Given the description of an element on the screen output the (x, y) to click on. 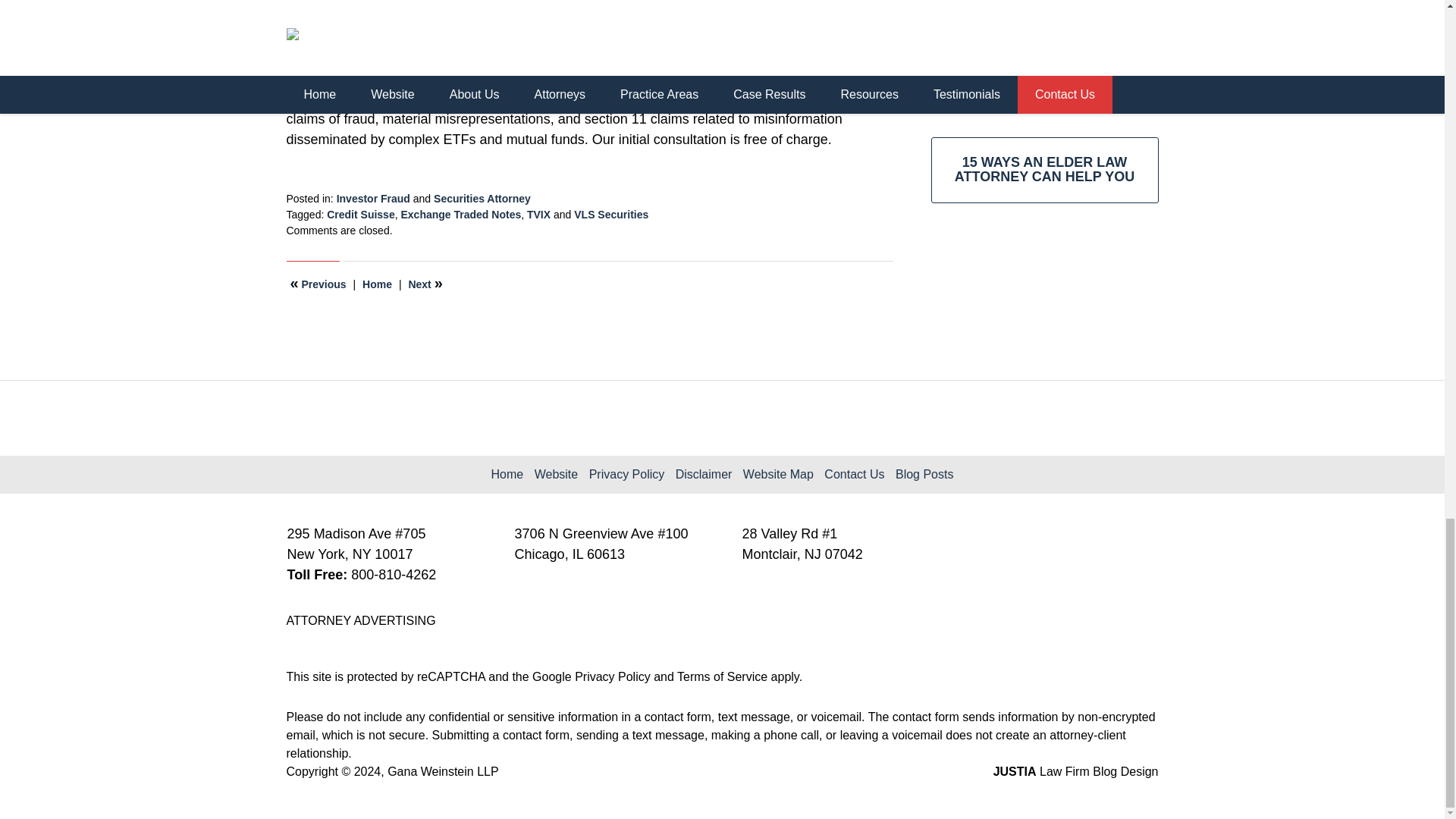
Home (377, 284)
Exchange Traded Notes (460, 214)
Securities Attorney (482, 198)
View all posts tagged with Credit Suisse (360, 214)
TVIX (538, 214)
Investor Fraud (373, 198)
View all posts tagged with TVIX (538, 214)
View all posts tagged with VLS Securities (610, 214)
